Given the description of an element on the screen output the (x, y) to click on. 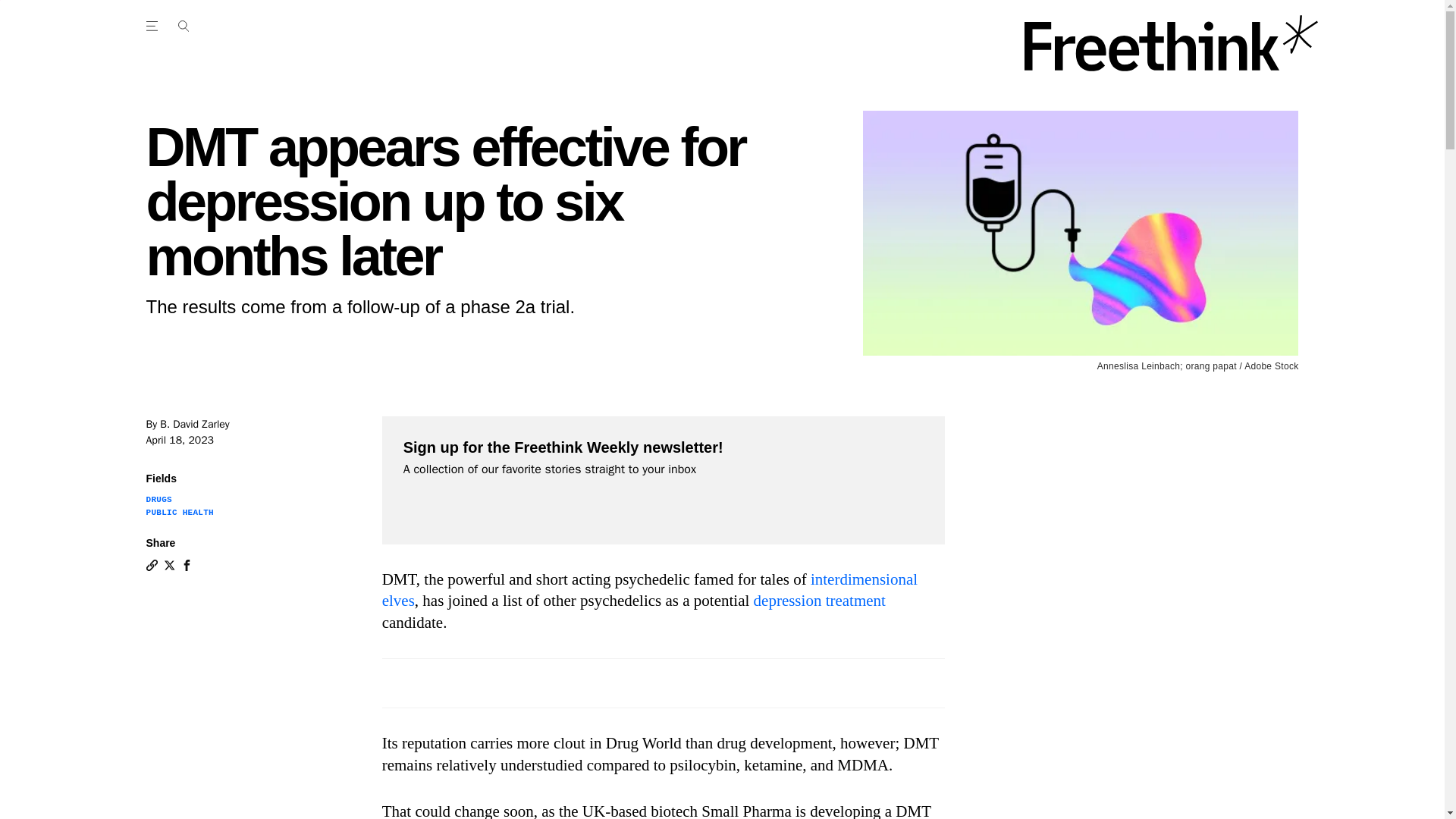
PUBLIC HEALTH (178, 511)
Open the Main Navigation Menu (182, 26)
Open the Main Navigation Menu (153, 26)
B. David Zarley (194, 423)
DRUGS (158, 499)
